Given the description of an element on the screen output the (x, y) to click on. 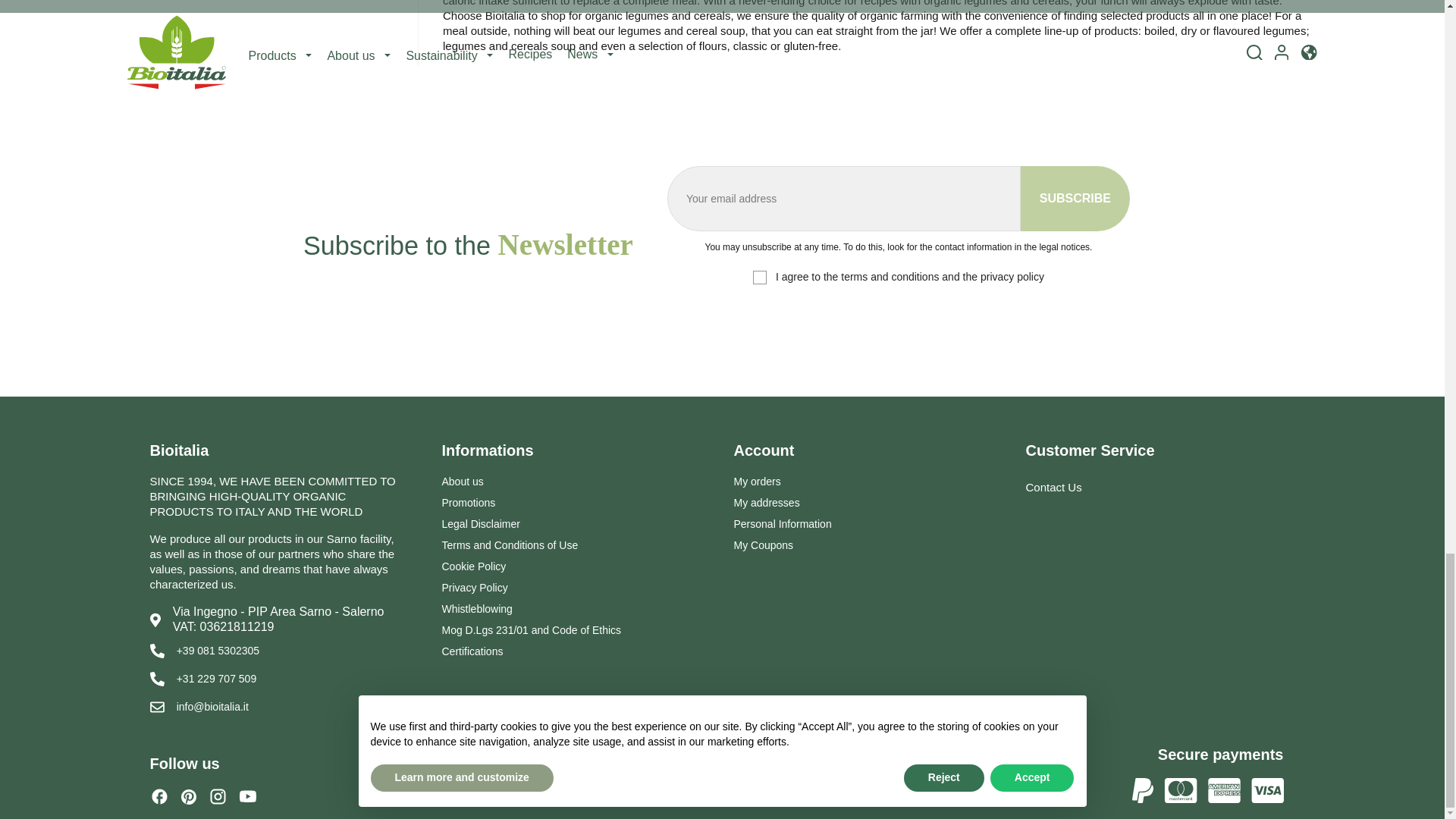
Subscribe (1074, 198)
